Given the description of an element on the screen output the (x, y) to click on. 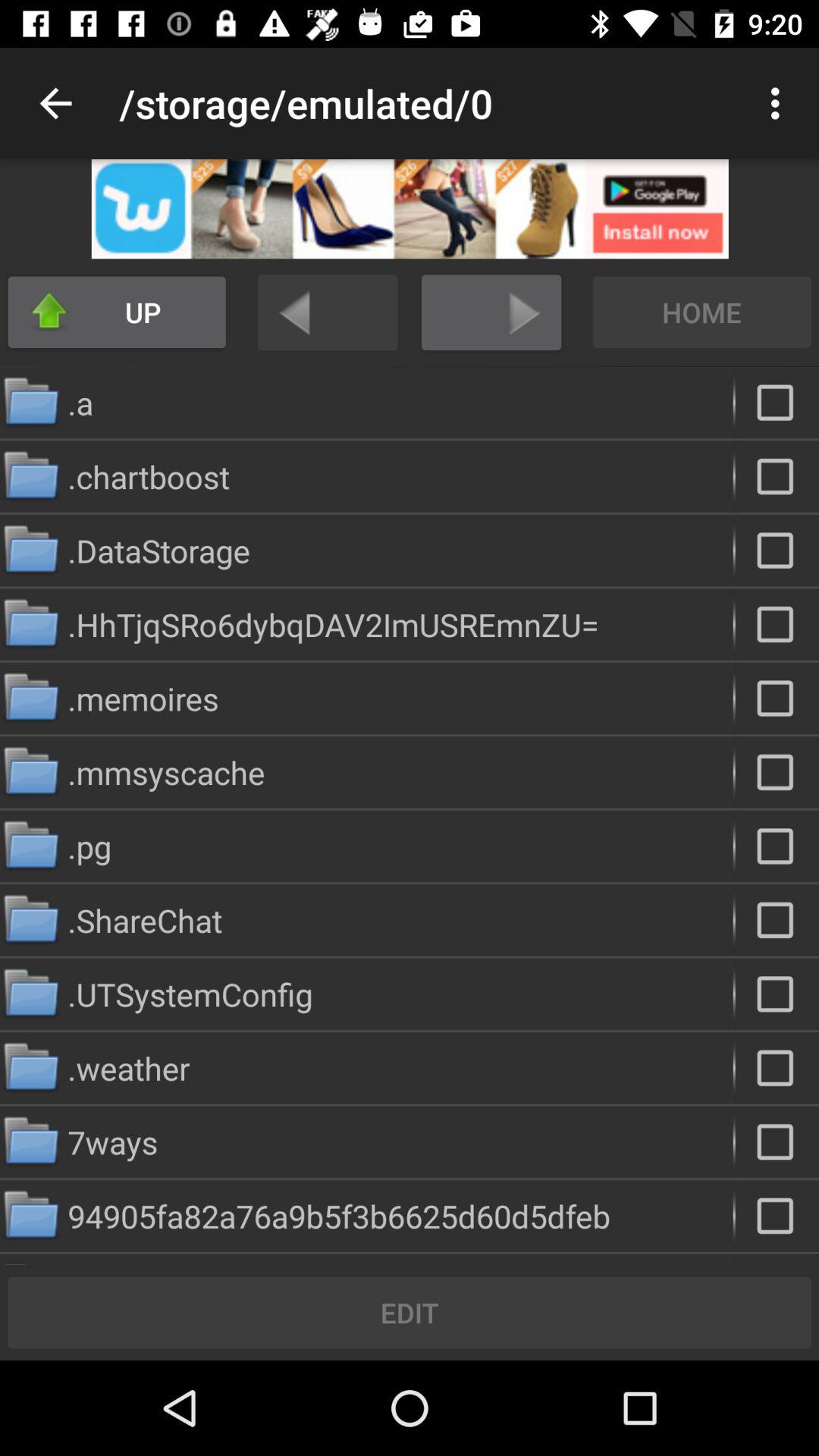
select folder (777, 1067)
